Given the description of an element on the screen output the (x, y) to click on. 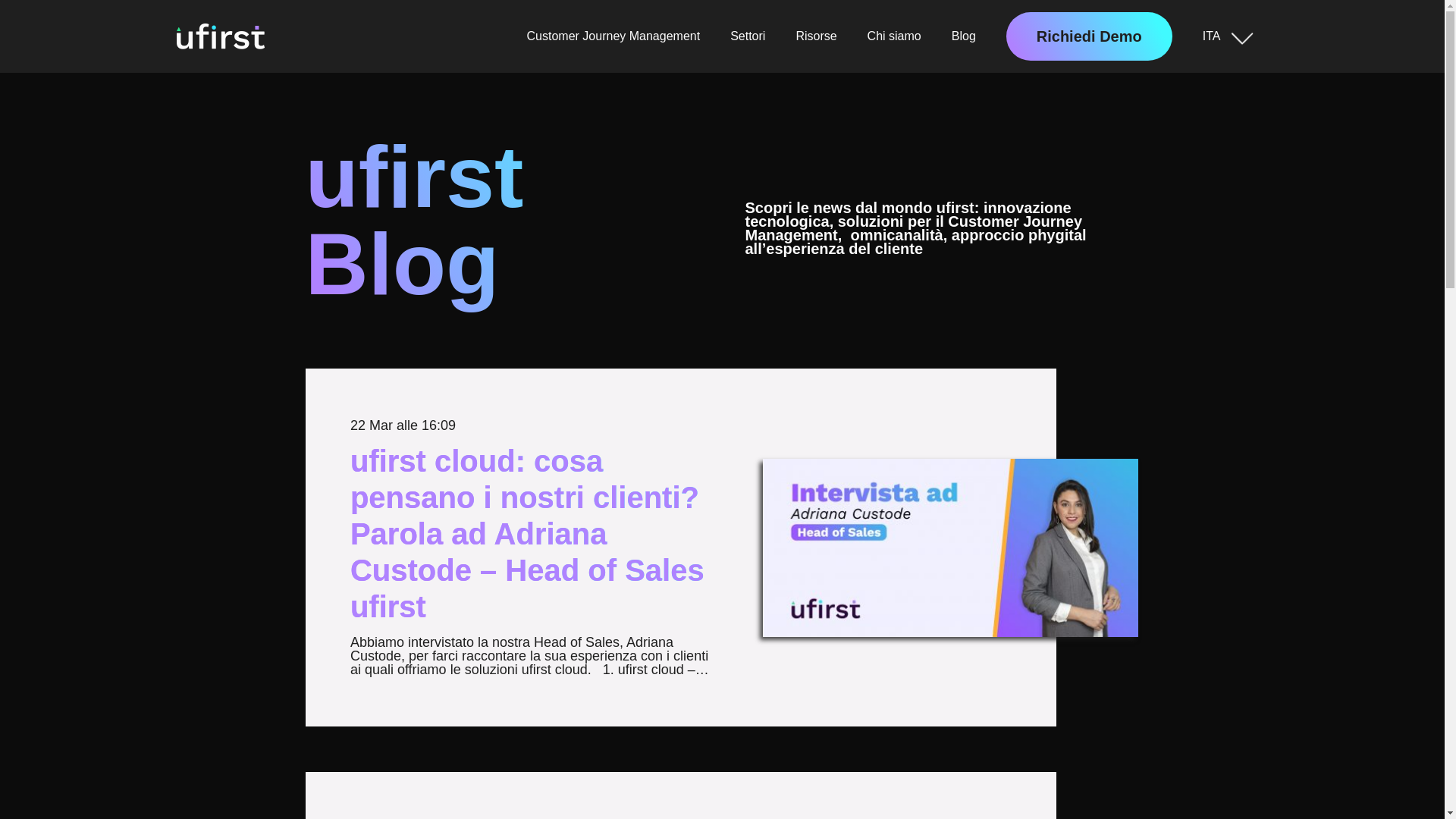
Customer Journey Management Element type: text (613, 36)
Blog Element type: text (963, 36)
Settori Element type: text (747, 36)
Chi siamo Element type: text (894, 36)
Risorse Element type: text (815, 36)
ITA Element type: text (1227, 36)
Richiedi Demo Element type: text (1089, 36)
